Given the description of an element on the screen output the (x, y) to click on. 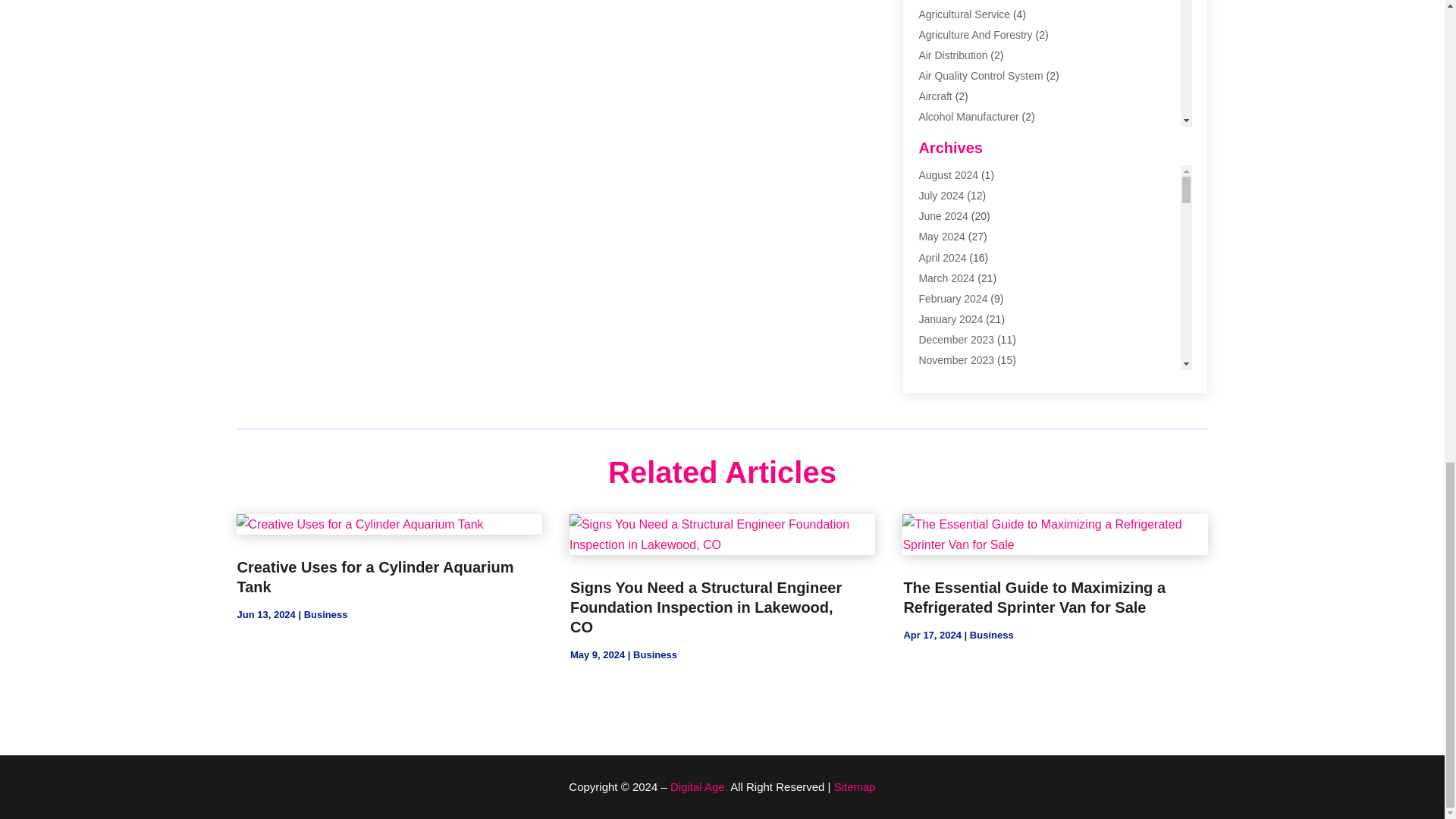
Air Distribution (952, 55)
Aluminum Supplier (962, 137)
Alcohol Manufacturer (967, 116)
Aircraft (935, 96)
Animal Removal (956, 158)
Air Quality Control System (980, 75)
Agriculture And Forestry (975, 34)
Agricultural Service (964, 14)
